Given the description of an element on the screen output the (x, y) to click on. 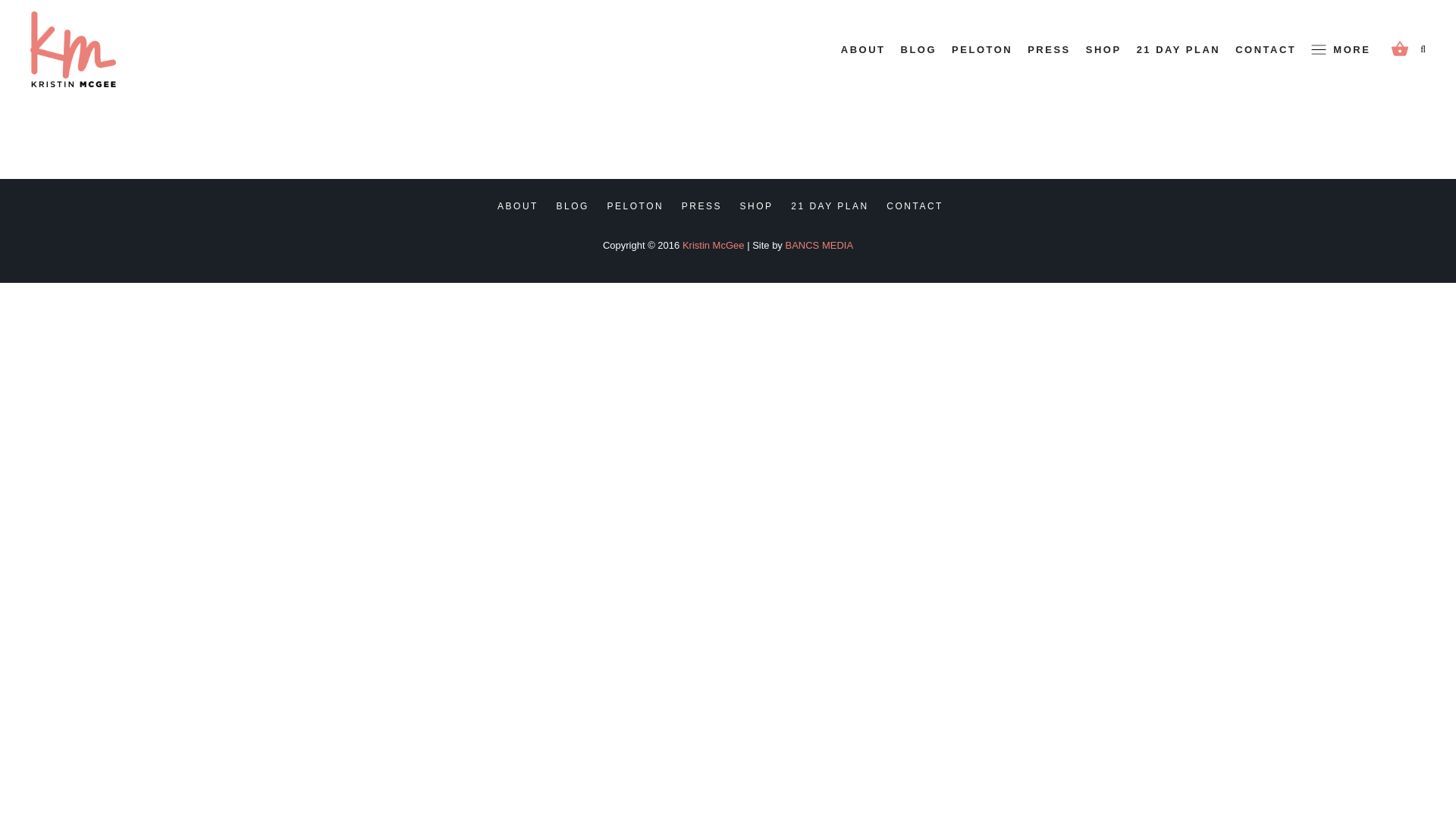
SHOP (1103, 49)
21 DAY PLAN (828, 205)
PELOTON (981, 49)
Search (1390, 120)
ABOUT (863, 49)
21 DAY PLAN (1179, 49)
PELOTON (635, 205)
BLOG (919, 49)
BANCS MEDIA (819, 244)
CONTACT (1264, 49)
PRESS (1048, 49)
ABOUT (517, 205)
Kristin McGee (713, 244)
SHOP (756, 205)
PRESS (701, 205)
